Given the description of an element on the screen output the (x, y) to click on. 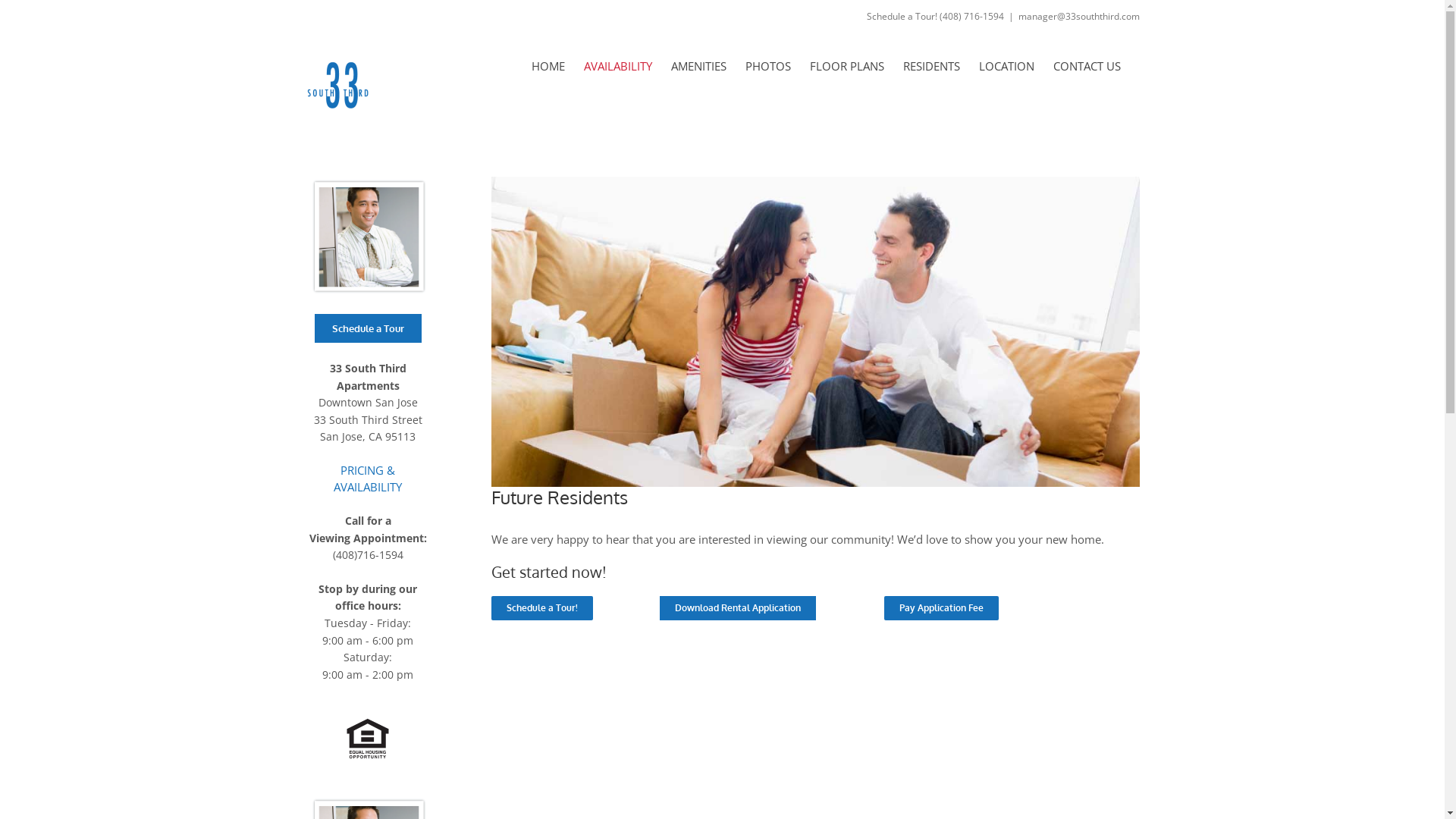
PHOTOS Element type: text (767, 65)
RESIDENTS Element type: text (930, 65)
FLOOR PLANS Element type: text (846, 65)
Schedule a Tour! Element type: text (542, 608)
AVAILABILITY Element type: text (617, 65)
Download Rental Application Element type: text (737, 608)
Pay Application Fee Element type: text (941, 608)
AMENITIES Element type: text (697, 65)
HOME Element type: text (547, 65)
manager@33souththird.com Element type: text (1078, 15)
PRICING & AVAILABILITY Element type: text (367, 478)
Schedule a Tour Element type: text (366, 327)
CONTACT US Element type: text (1086, 65)
LOCATION Element type: text (1005, 65)
